Given the description of an element on the screen output the (x, y) to click on. 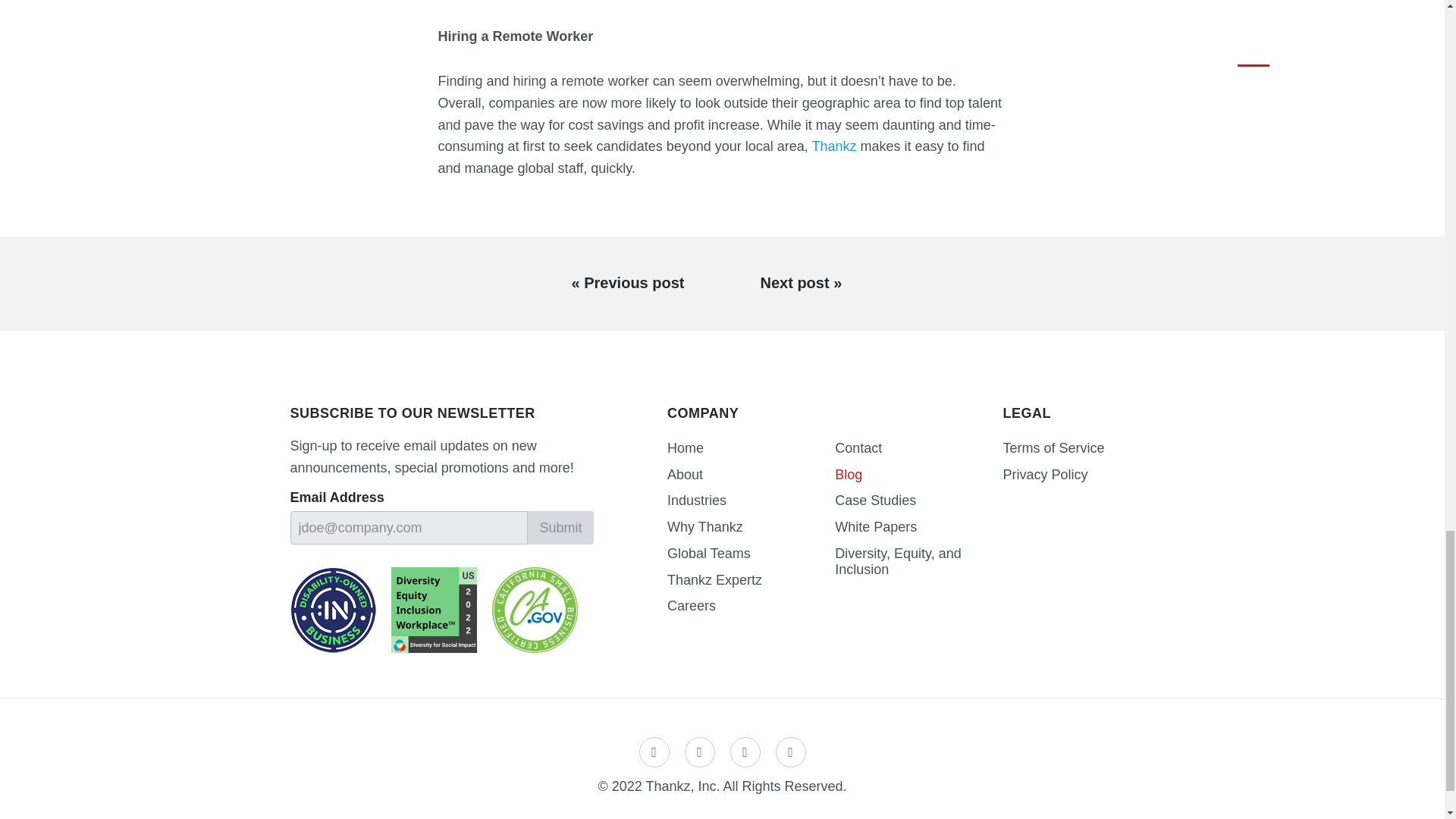
Careers (750, 605)
Home (750, 447)
Thankz Expertz (750, 580)
Industries (750, 500)
Thankz (833, 145)
About (750, 474)
Why Thankz (750, 527)
Global Teams (750, 553)
Submit (559, 527)
